Given the description of an element on the screen output the (x, y) to click on. 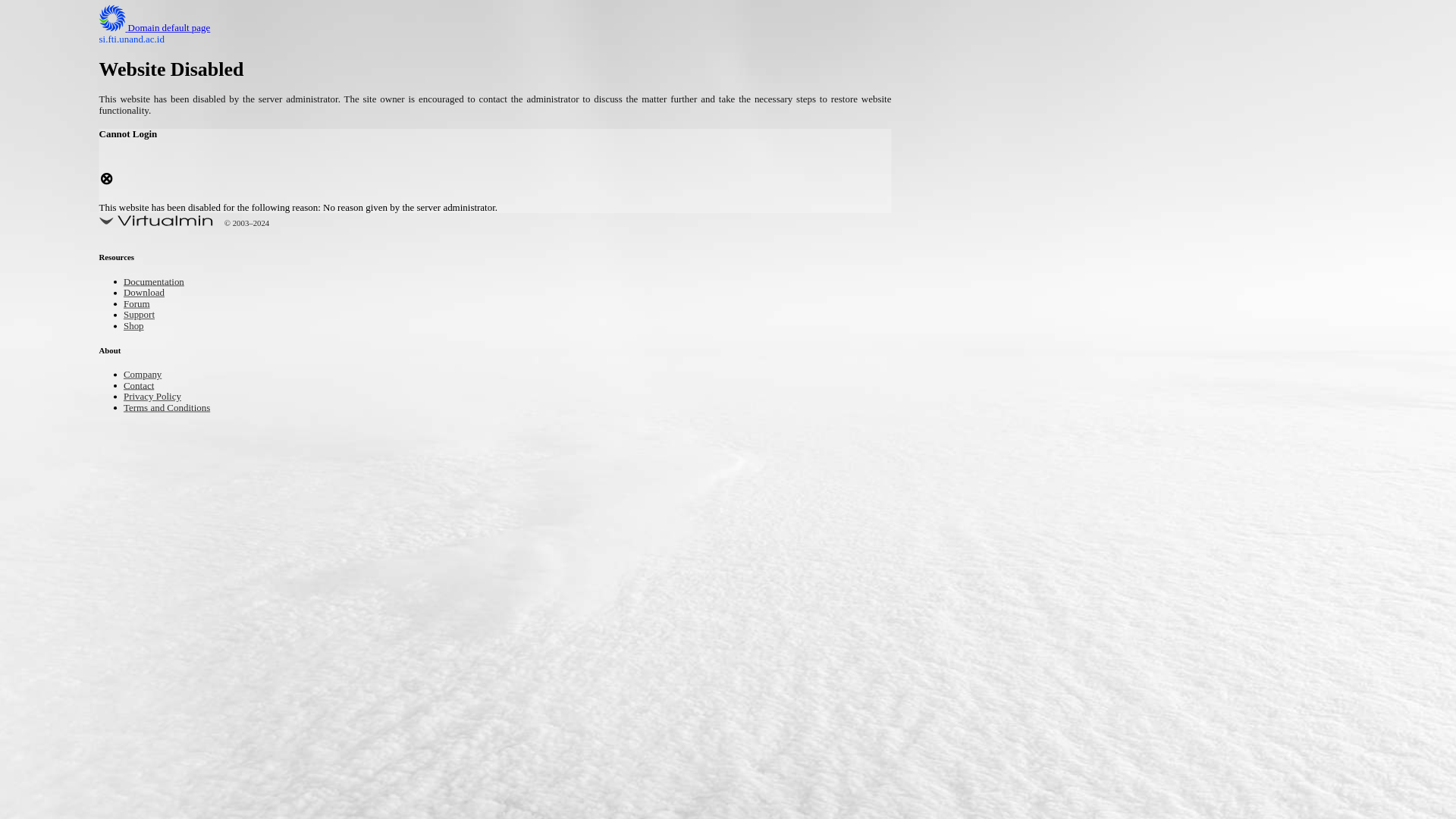
Documentation (160, 282)
Support (142, 315)
Contact (142, 386)
Privacy Policy (159, 397)
Domain default page (167, 29)
Company (146, 374)
Terms and Conditions (176, 408)
Shop (135, 327)
Download (148, 293)
Forum (139, 305)
